Given the description of an element on the screen output the (x, y) to click on. 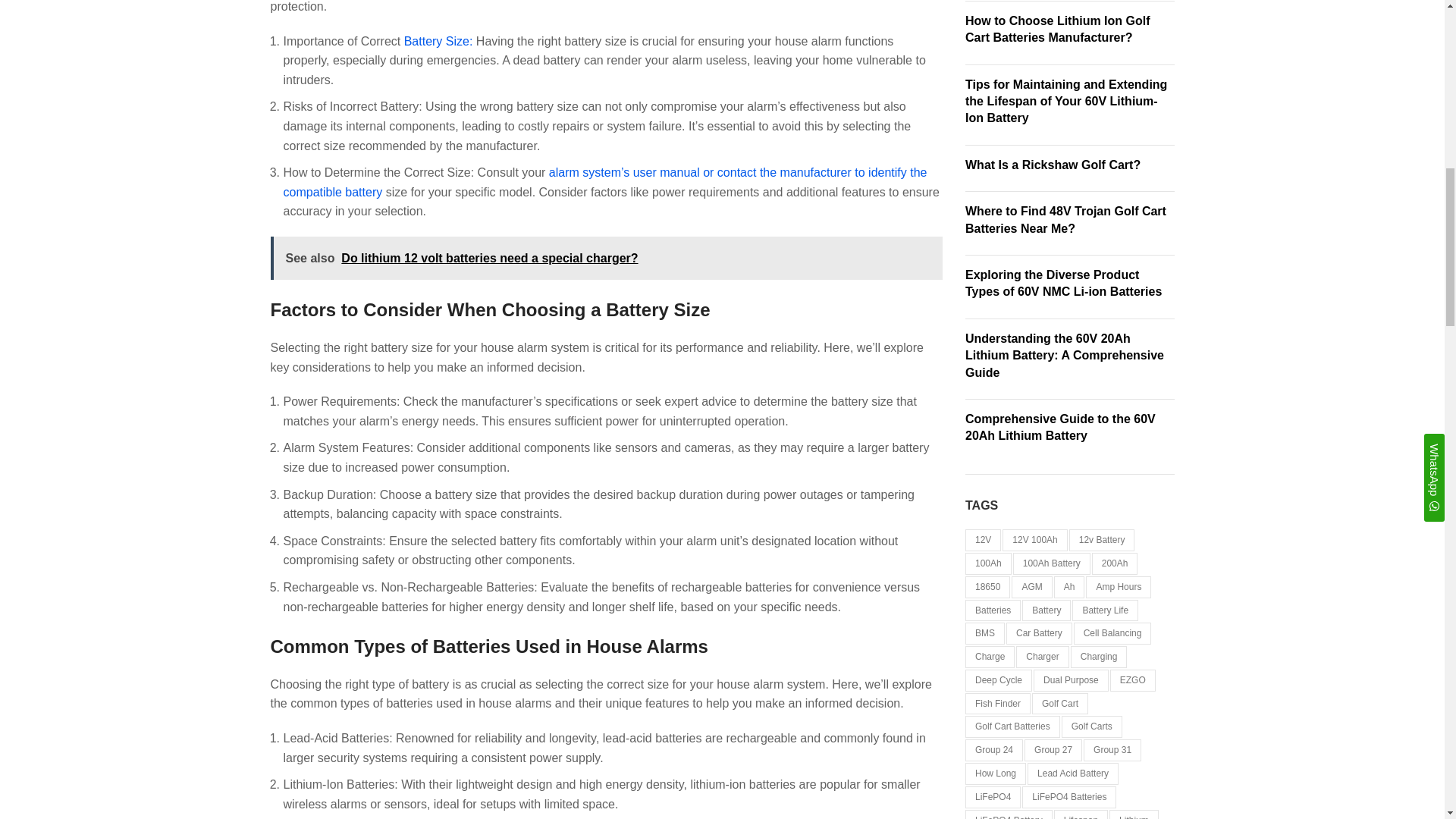
Permalink to What Is a Rickshaw Golf Cart? (1052, 164)
